Given the description of an element on the screen output the (x, y) to click on. 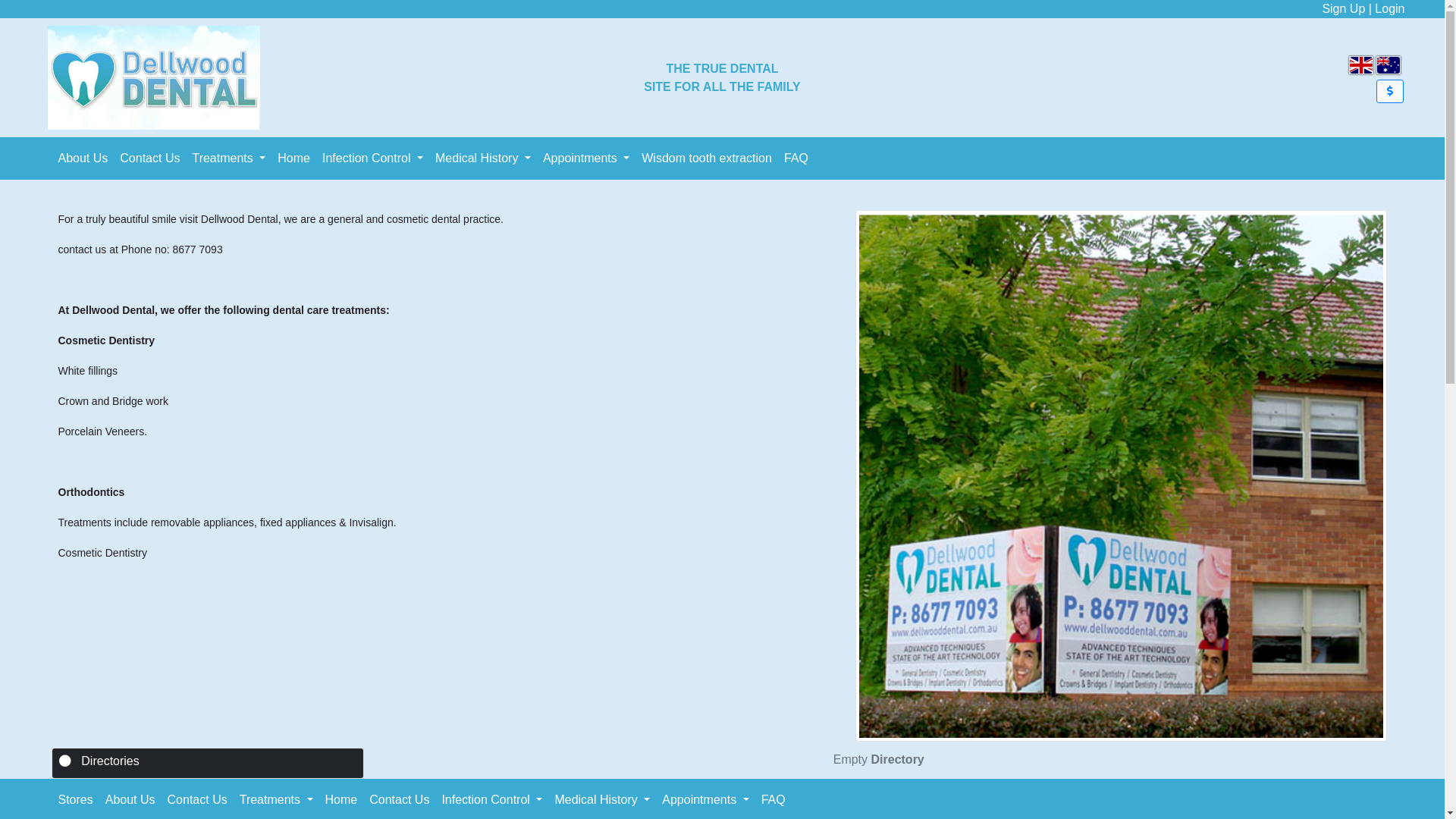
Home Element type: text (341, 799)
English Element type: hover (1361, 65)
About Us Element type: text (130, 799)
Stores Element type: text (74, 799)
Directories Element type: text (109, 760)
Contact Us Element type: text (149, 158)
English - Australia Element type: hover (1388, 65)
Appointments Element type: text (704, 799)
Wisdom tooth extraction Element type: text (706, 158)
Infection Control Element type: text (491, 799)
FAQ Element type: text (796, 158)
Contact Us Element type: text (399, 799)
Treatments Element type: text (228, 158)
About Us Element type: text (82, 158)
Login Element type: text (1389, 8)
Medical History Element type: text (601, 799)
Home Element type: text (293, 158)
Contact Us Element type: text (197, 799)
Treatments Element type: text (276, 799)
Sign Up Element type: text (1343, 8)
Appointments Element type: text (585, 158)
FAQ Element type: text (773, 799)
Medical History Element type: text (482, 158)
Australian Dollar Element type: hover (1389, 91)
Infection Control Element type: text (372, 158)
